Given the description of an element on the screen output the (x, y) to click on. 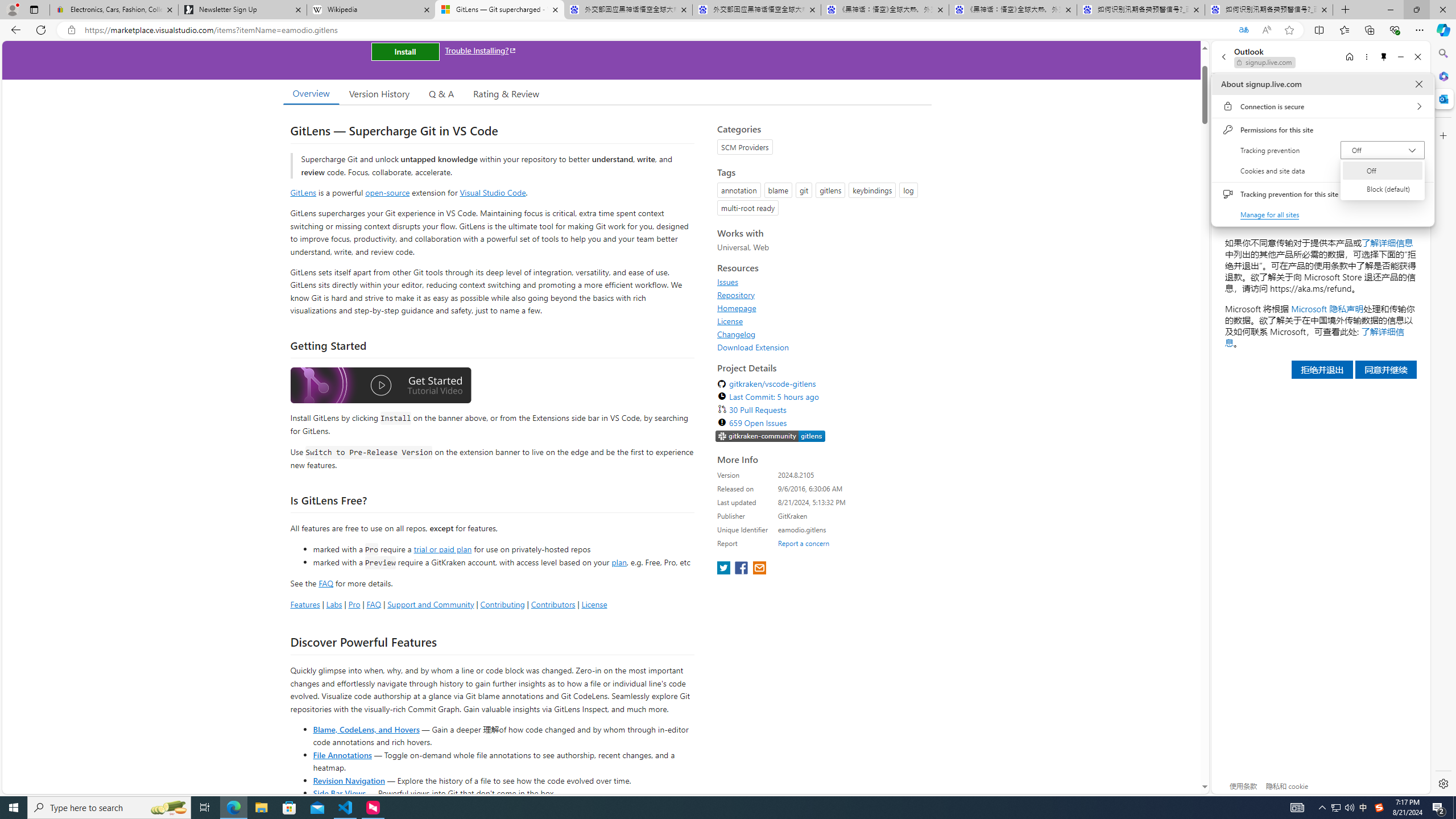
Block (default) (1382, 188)
Running applications (707, 807)
